Given the description of an element on the screen output the (x, y) to click on. 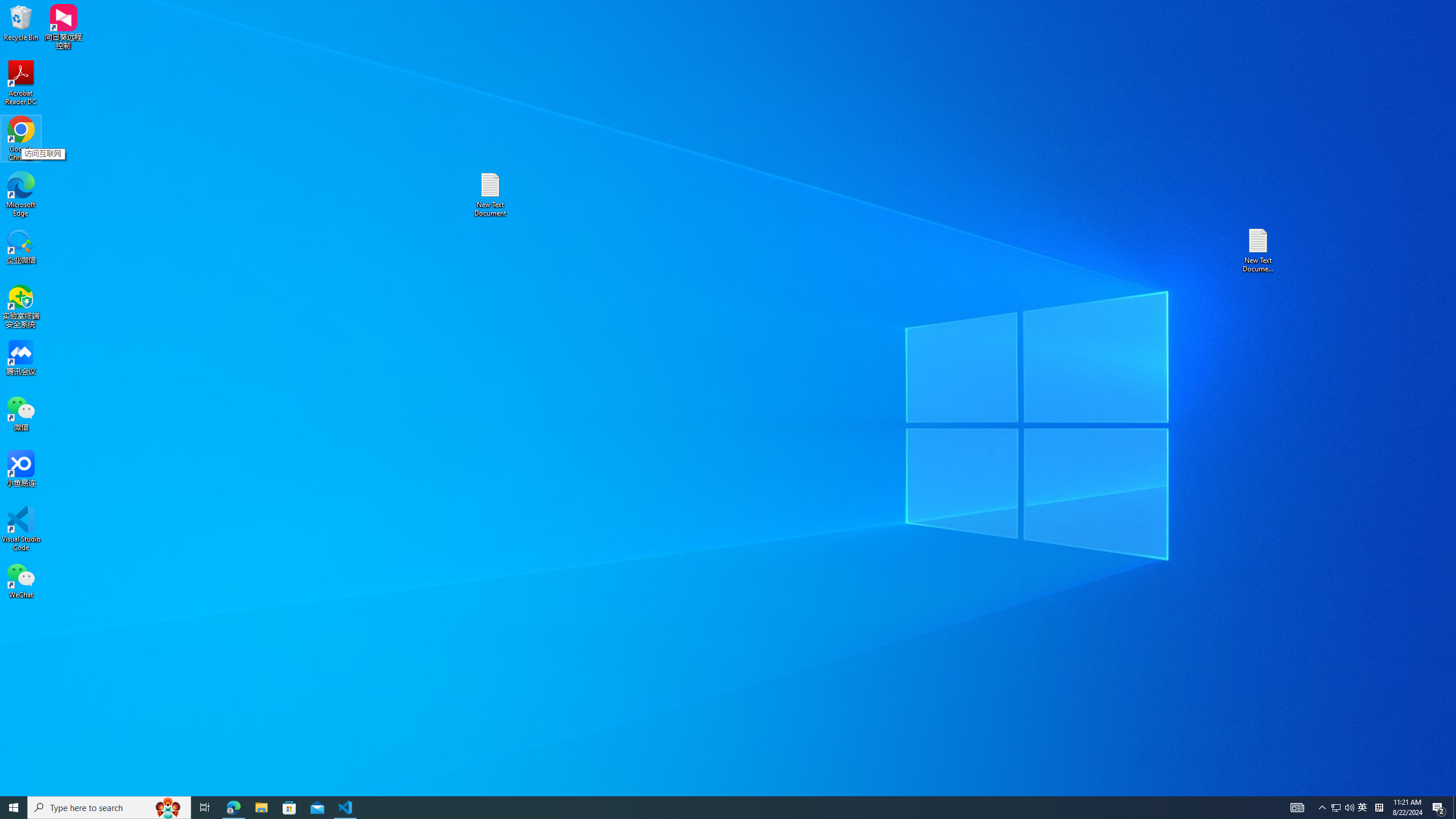
Recycle Bin (21, 22)
New Text Document (2) (1258, 250)
Running applications (707, 807)
Microsoft Store (1362, 807)
User Promoted Notification Area (289, 807)
WeChat (1342, 807)
Microsoft Edge (21, 580)
Visual Studio Code (21, 194)
Type here to search (21, 528)
Task View (108, 807)
Start (204, 807)
AutomationID: 4105 (13, 807)
Google Chrome (1297, 807)
